Given the description of an element on the screen output the (x, y) to click on. 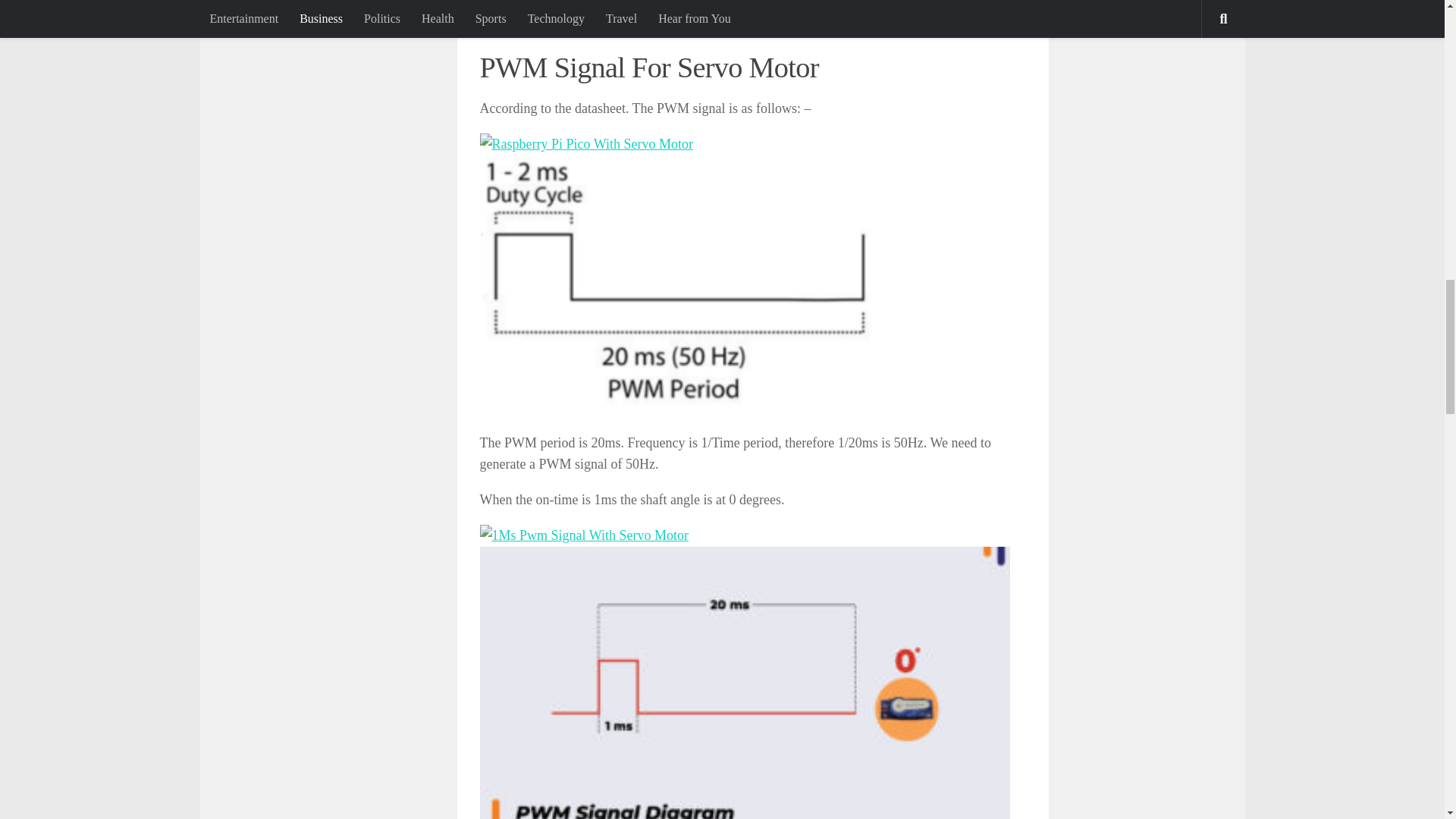
Servo Motor Pwm Signal 1 (586, 144)
Servo Motor 1Ms Servo 1 (583, 535)
Raspberry pi pico (946, 5)
Servo Motor Pwm Signal 1 (682, 282)
